Given the description of an element on the screen output the (x, y) to click on. 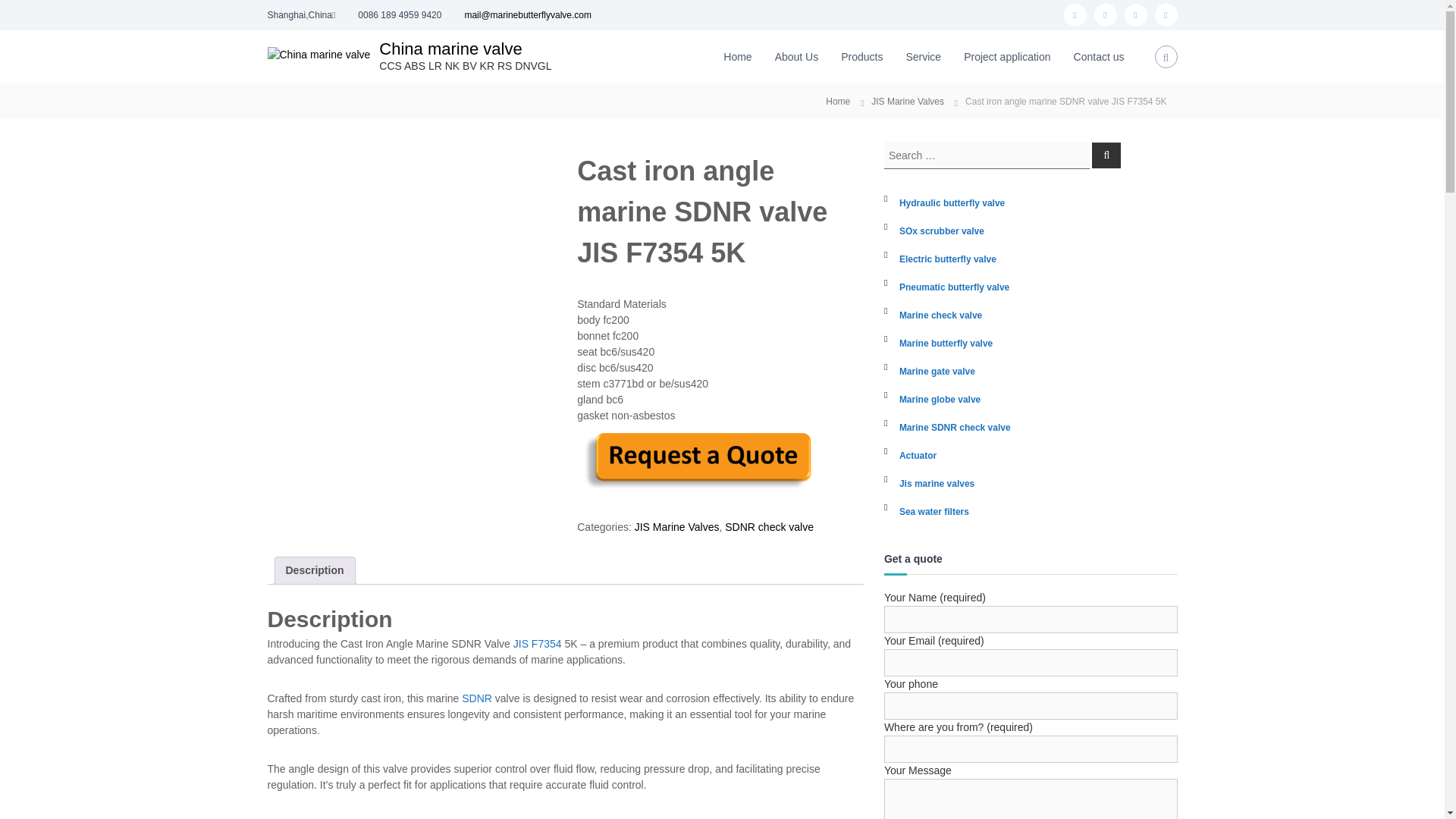
Products (861, 55)
instagram (1104, 15)
Home (737, 55)
linkedin (1165, 15)
Contact us (1099, 55)
About Us (796, 55)
Service (922, 55)
youtube (1135, 15)
Project application (1006, 55)
facebook (1074, 15)
